Given the description of an element on the screen output the (x, y) to click on. 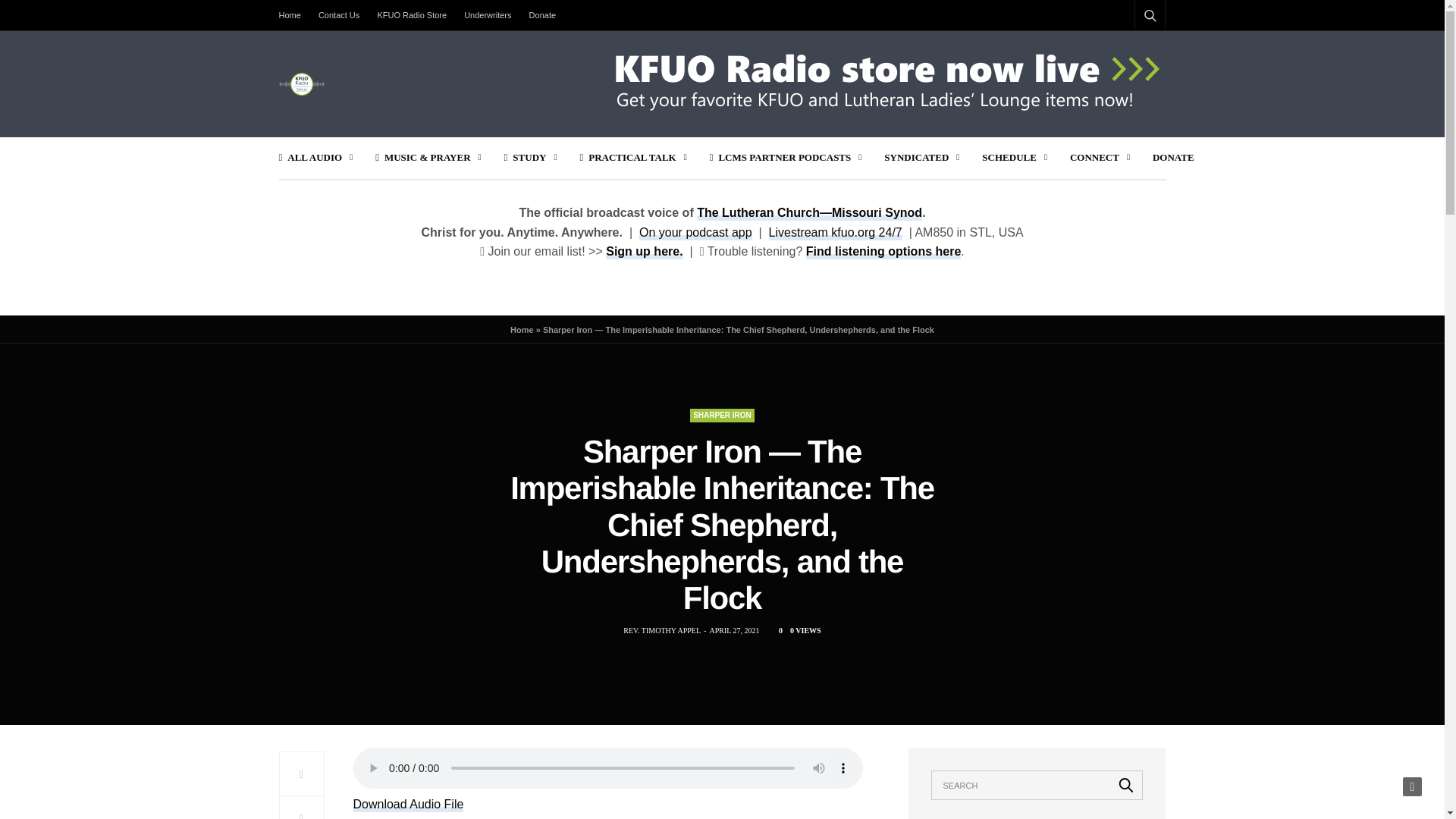
Contact Us (338, 15)
Sharper Iron (722, 415)
KFUO Radio Store (411, 15)
Underwriters (487, 15)
Home (293, 15)
Search (1125, 784)
Search (1129, 51)
ALL AUDIO (316, 157)
Posts by Rev. Timothy Appel (661, 630)
Donate (542, 15)
